Given the description of an element on the screen output the (x, y) to click on. 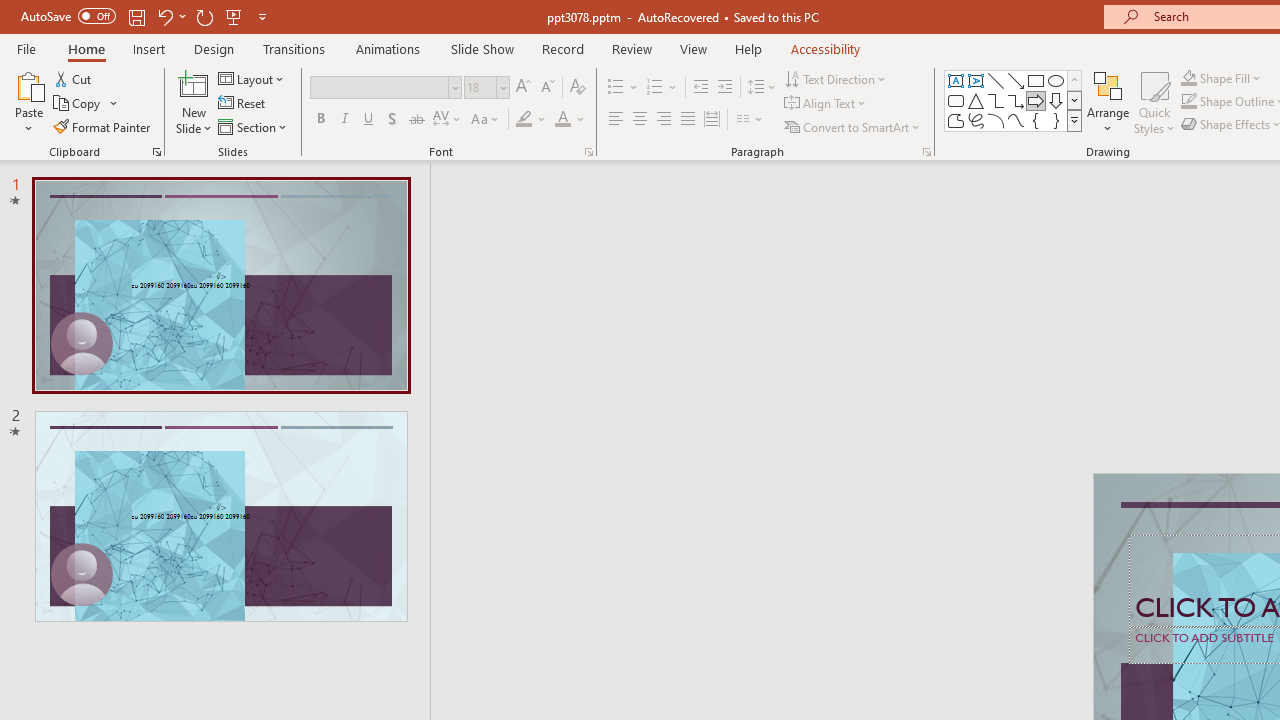
Shape Fill Dark Green, Accent 2 (1188, 78)
